Given the description of an element on the screen output the (x, y) to click on. 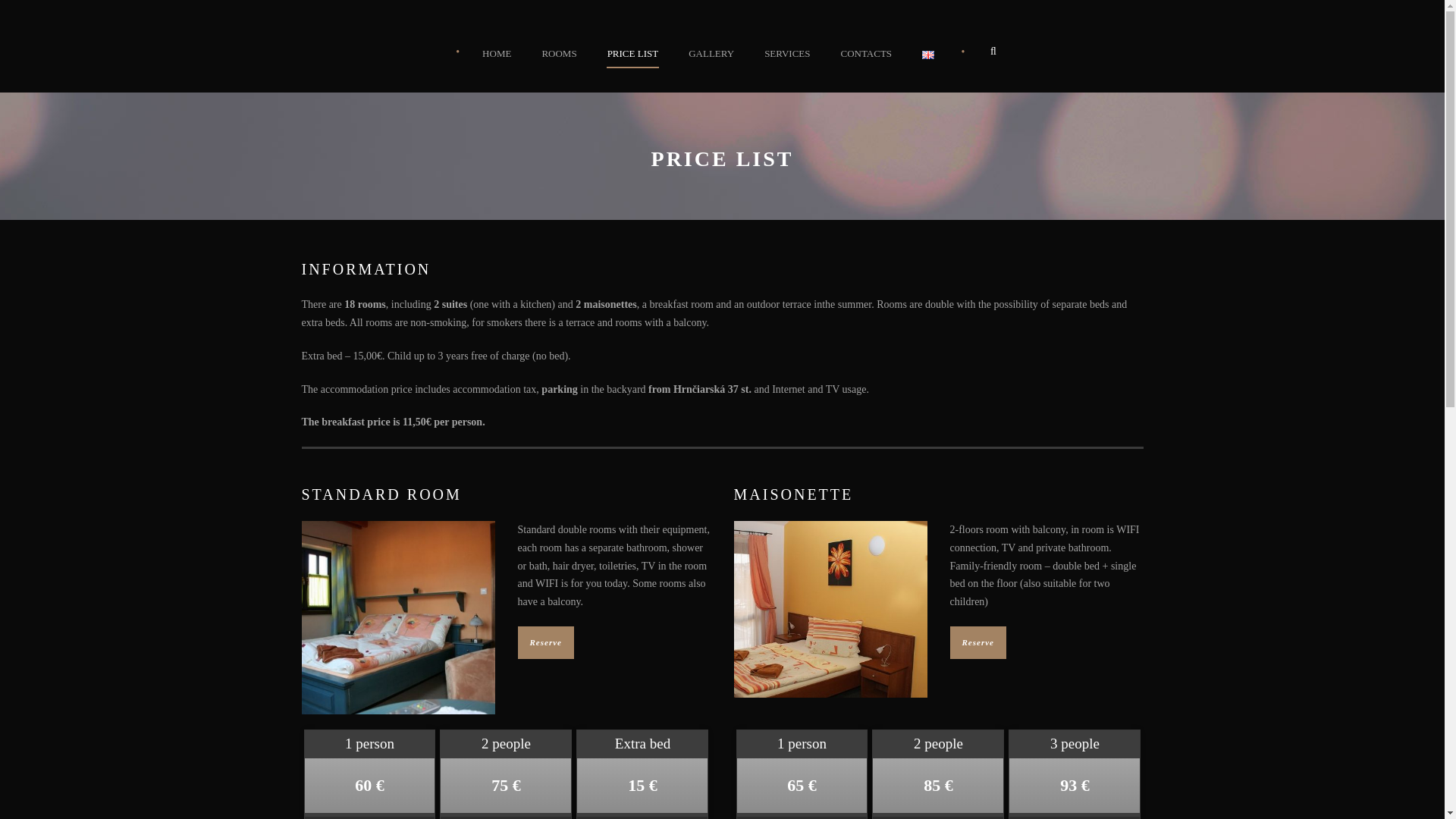
Reserve (977, 642)
Reserve (544, 642)
English (927, 54)
SERVICES (787, 68)
CONTACTS (866, 68)
ROOMS (558, 68)
HOME (503, 68)
GALLERY (710, 68)
PRICE LIST (633, 68)
